Given the description of an element on the screen output the (x, y) to click on. 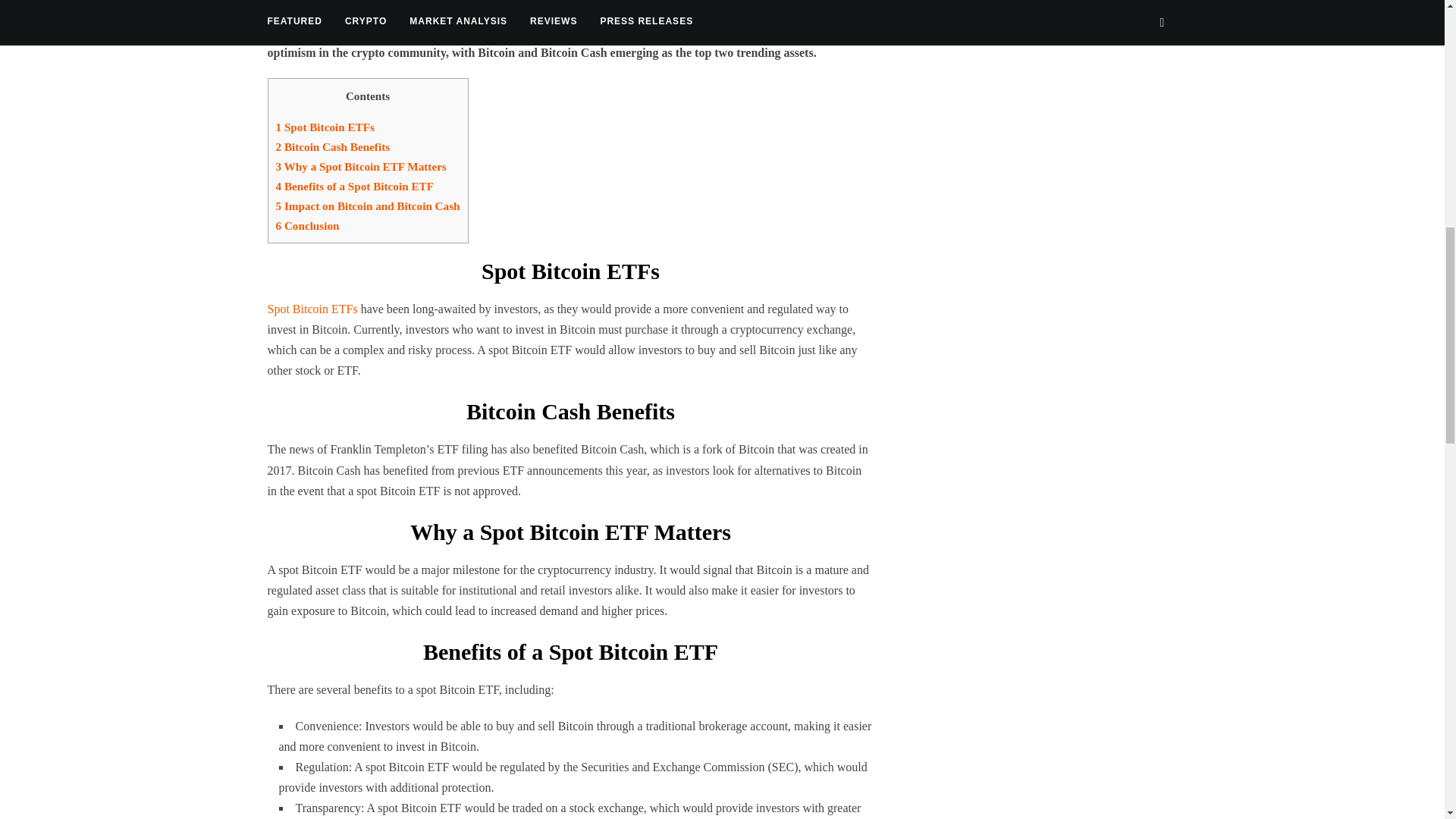
6 Conclusion (307, 225)
4 Benefits of a Spot Bitcoin ETF (354, 185)
1 Spot Bitcoin ETFs (325, 126)
3 Why a Spot Bitcoin ETF Matters (361, 165)
Spot Bitcoin ETFs (311, 308)
2 Bitcoin Cash Benefits (333, 146)
has filed for a spot Bitcoin ETF, (676, 11)
5 Impact on Bitcoin and Bitcoin Cash (368, 205)
